Given the description of an element on the screen output the (x, y) to click on. 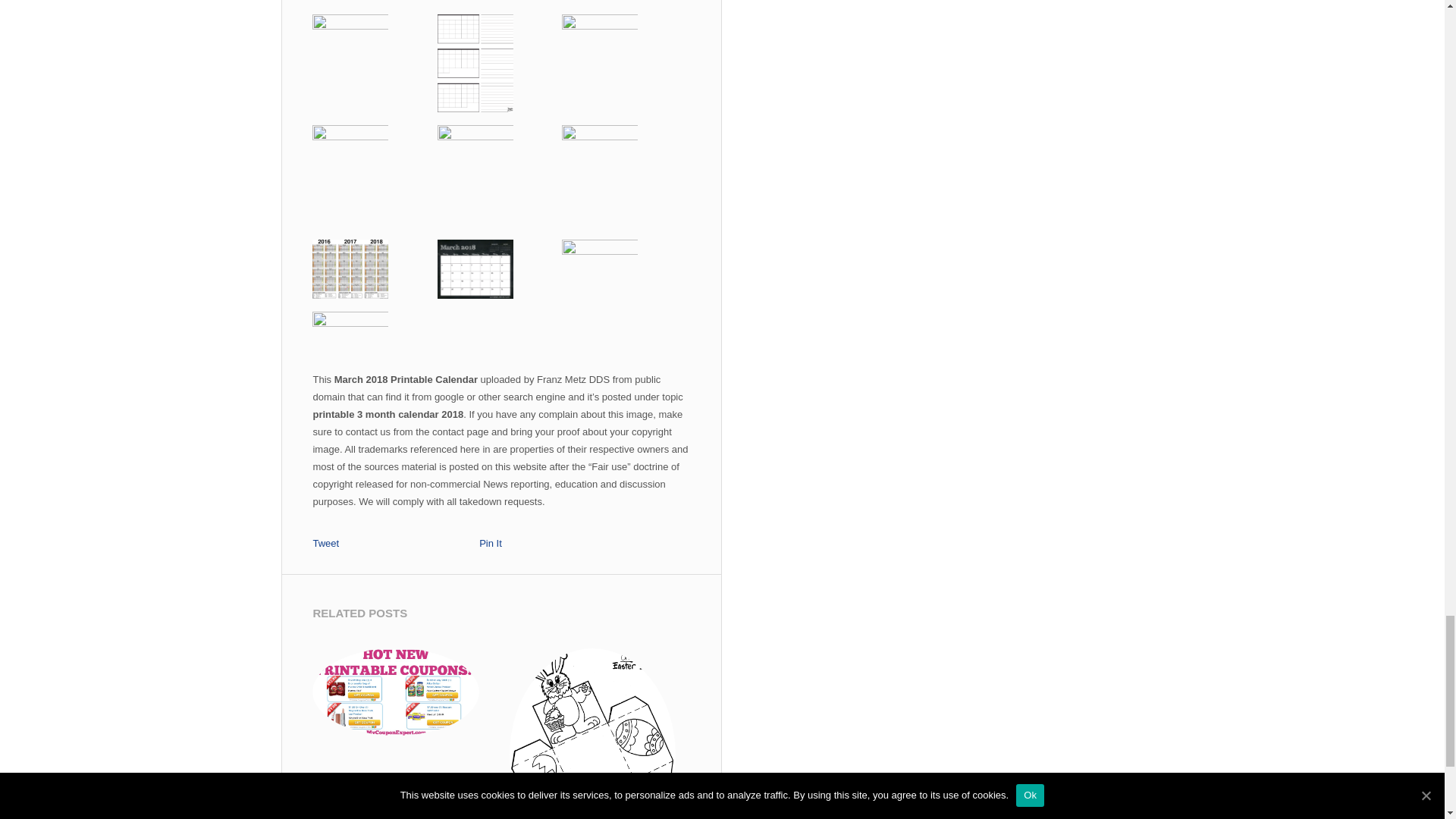
make a easter basket printable (592, 733)
nexium printable coupon 2017 (396, 694)
